Given the description of an element on the screen output the (x, y) to click on. 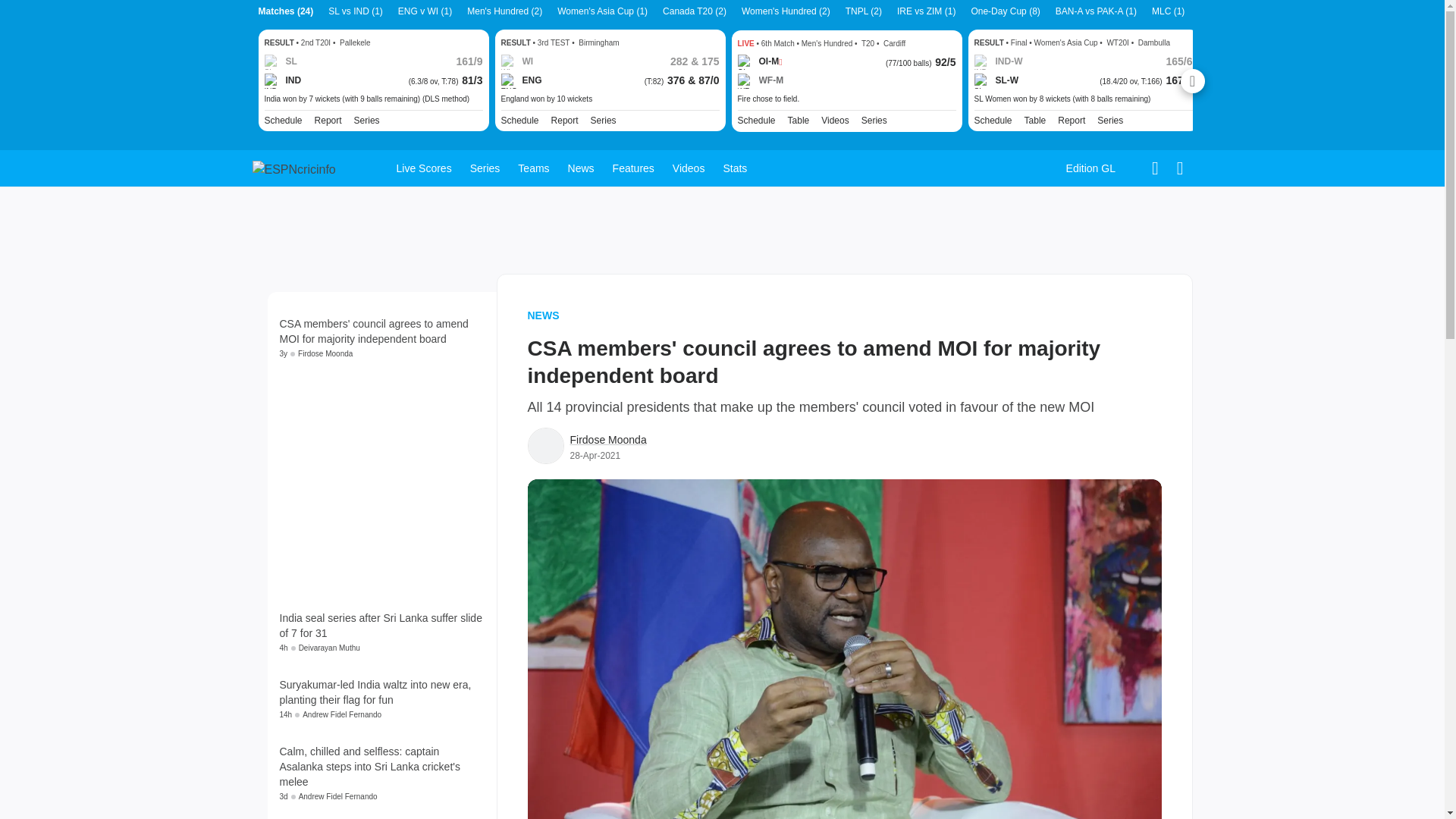
Table (798, 120)
Report (564, 120)
OI-M vs WF-M - 6th Match (845, 98)
Series (1109, 120)
Videos (834, 120)
Series (603, 120)
SL (280, 61)
Schedule (282, 120)
Report (1071, 120)
Series (366, 120)
Table (1035, 120)
OI-M (758, 61)
Report (564, 120)
The Hundred Men's Competition (873, 120)
Schedule (519, 120)
